Given the description of an element on the screen output the (x, y) to click on. 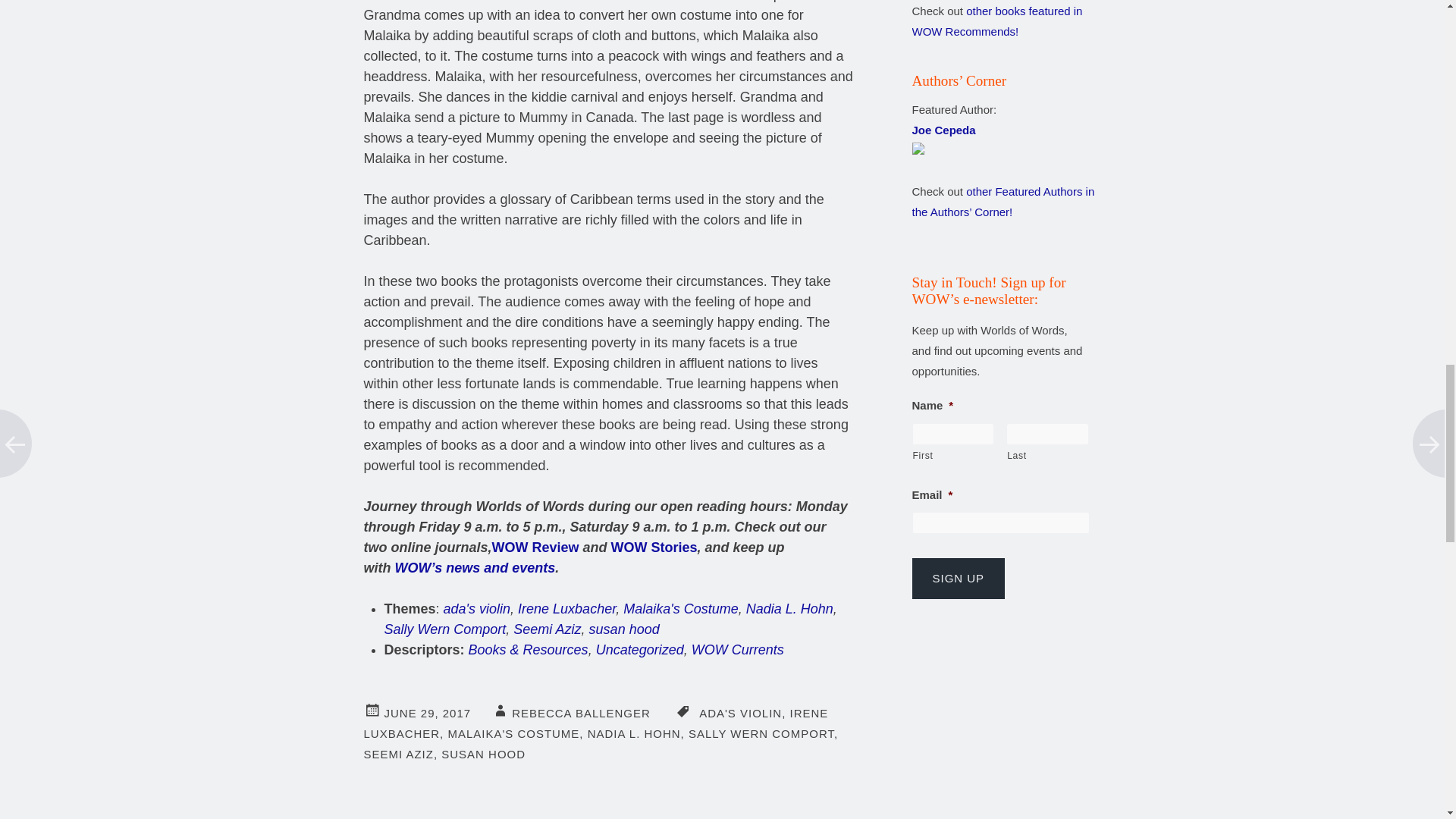
View all posts by Rebecca Ballenger (581, 712)
Sign Up (957, 577)
2:17 pm (427, 712)
